Given the description of an element on the screen output the (x, y) to click on. 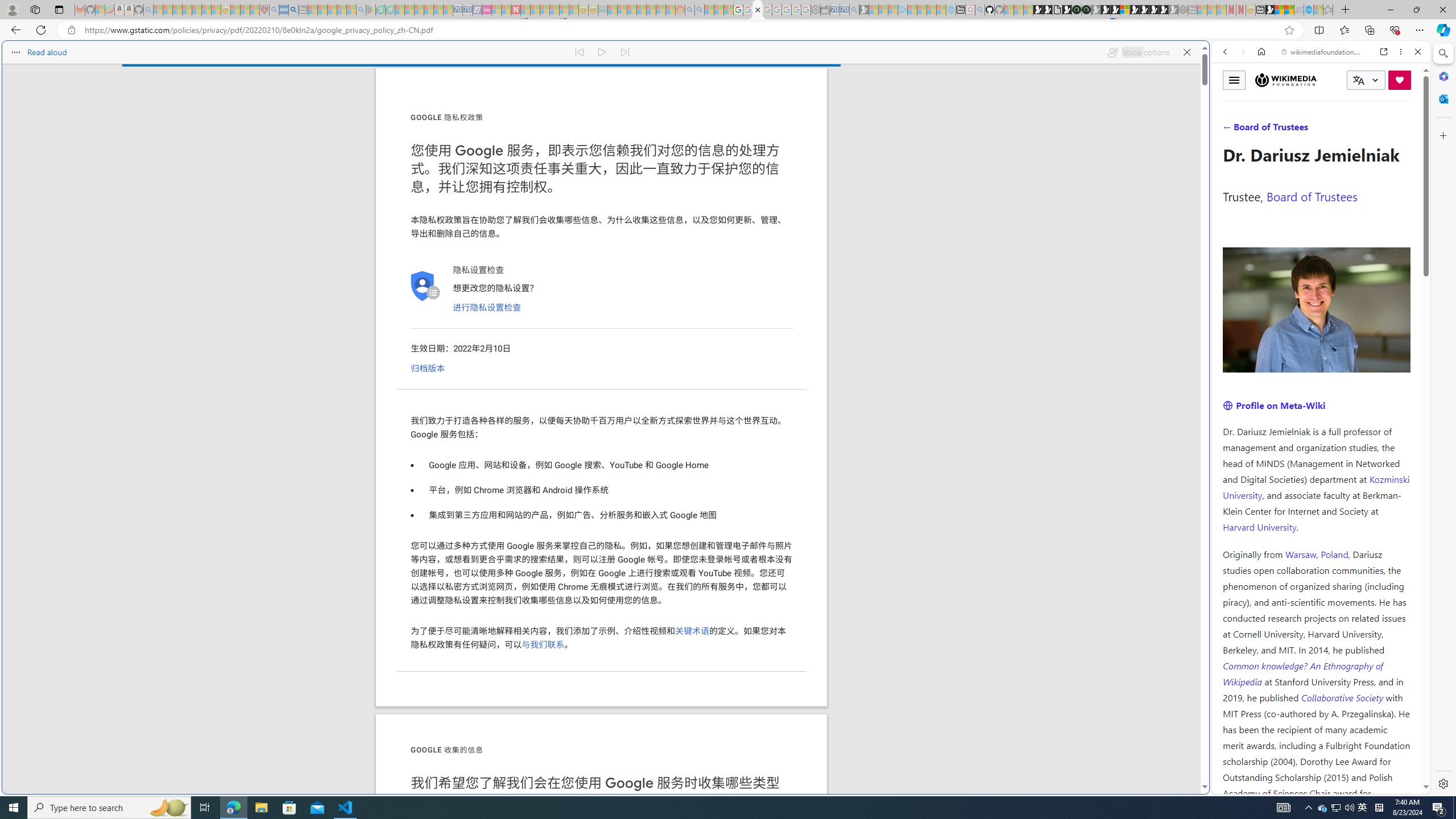
Local - MSN - Sleeping (254, 9)
google_privacy_policy_zh-CN.pdf (757, 9)
SEARCH TOOLS (1350, 130)
Board of Trustees (1311, 195)
